Given the description of an element on the screen output the (x, y) to click on. 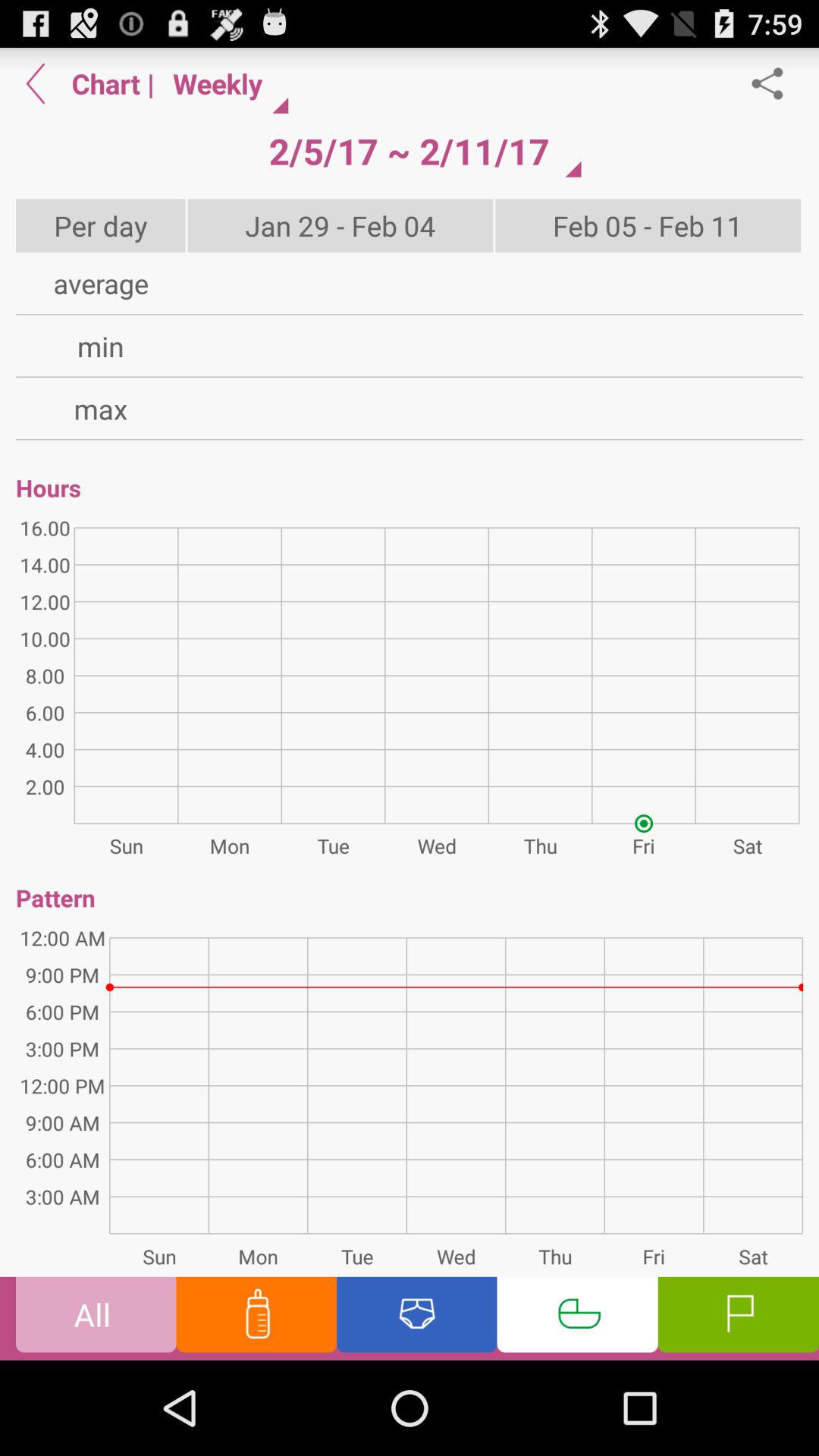
share chart (775, 83)
